Given the description of an element on the screen output the (x, y) to click on. 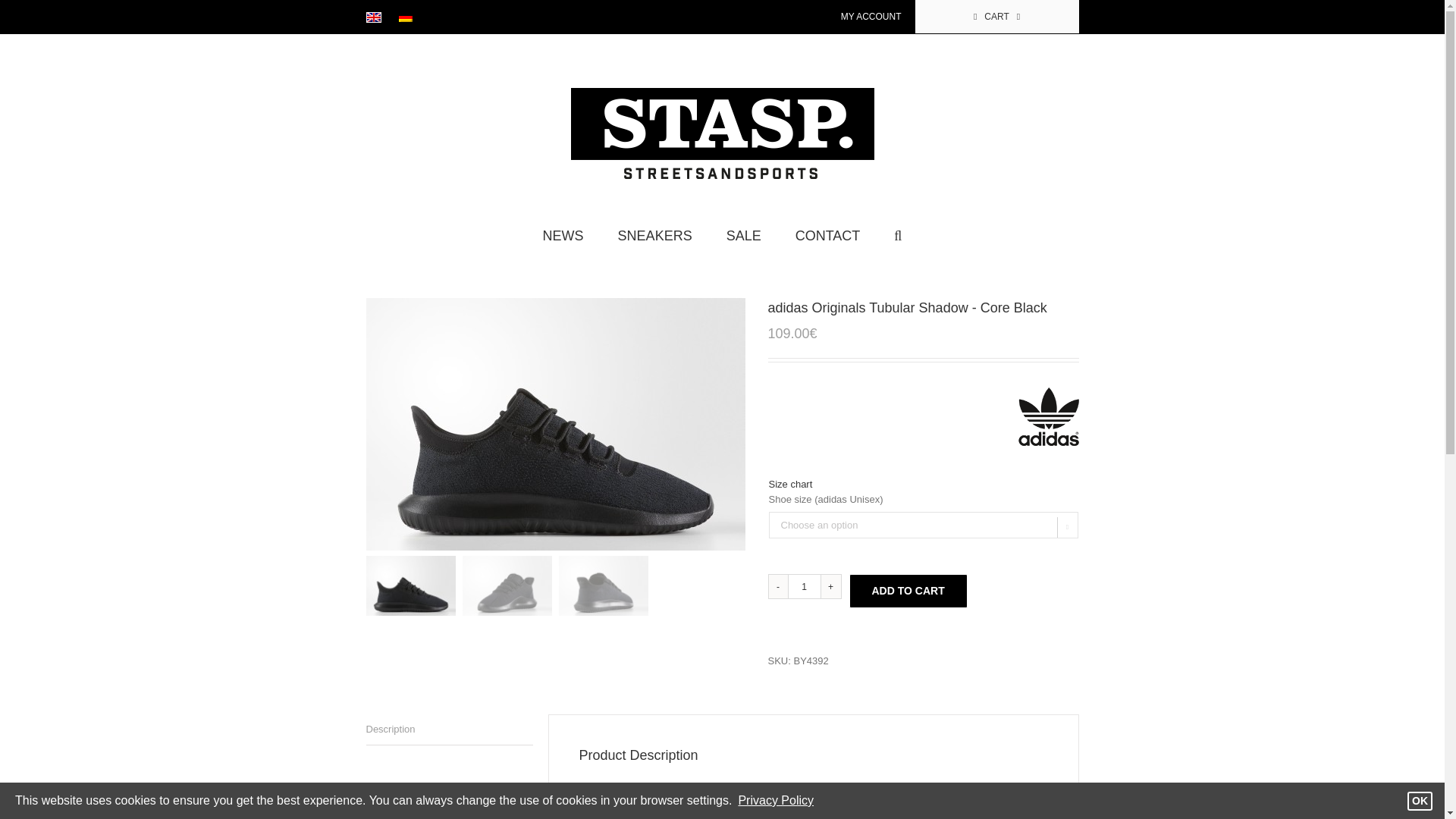
CART (996, 16)
SNEAKERS (655, 234)
CONTACT (827, 234)
Deutsch (405, 17)
1 (805, 586)
English (372, 17)
MY ACCOUNT (871, 16)
